Given the description of an element on the screen output the (x, y) to click on. 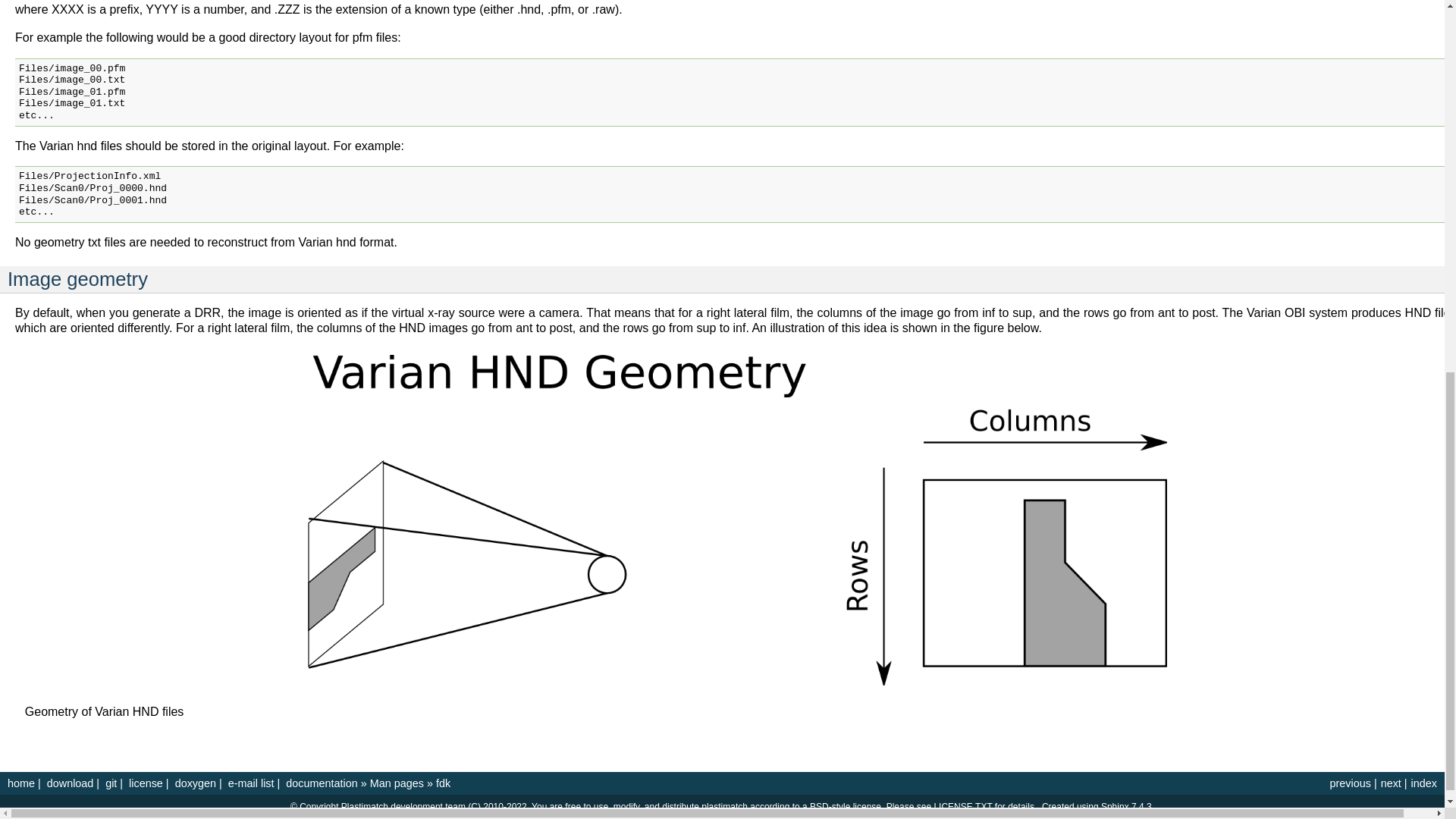
Sphinx (1114, 806)
next (1390, 783)
e-mail list (251, 783)
General Index (1423, 783)
drr (1349, 783)
previous (1349, 783)
git (110, 783)
fdk (442, 783)
license (146, 783)
index (1423, 783)
home (20, 783)
download (70, 783)
documentation (322, 783)
Man pages (396, 783)
doxygen (194, 783)
